Given the description of an element on the screen output the (x, y) to click on. 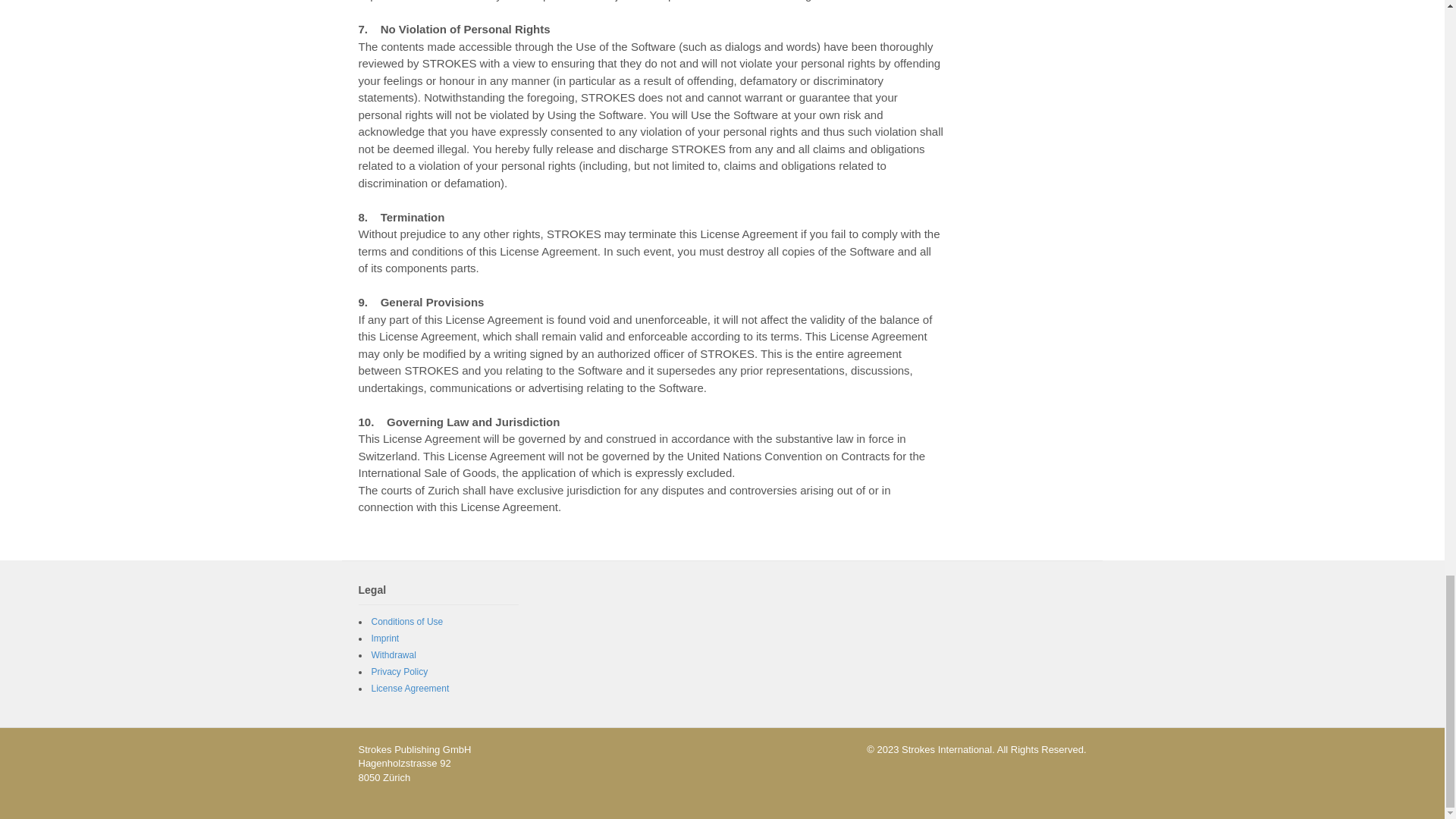
Conditions of Use (407, 621)
Imprint (384, 638)
Withdrawal (393, 655)
